Given the description of an element on the screen output the (x, y) to click on. 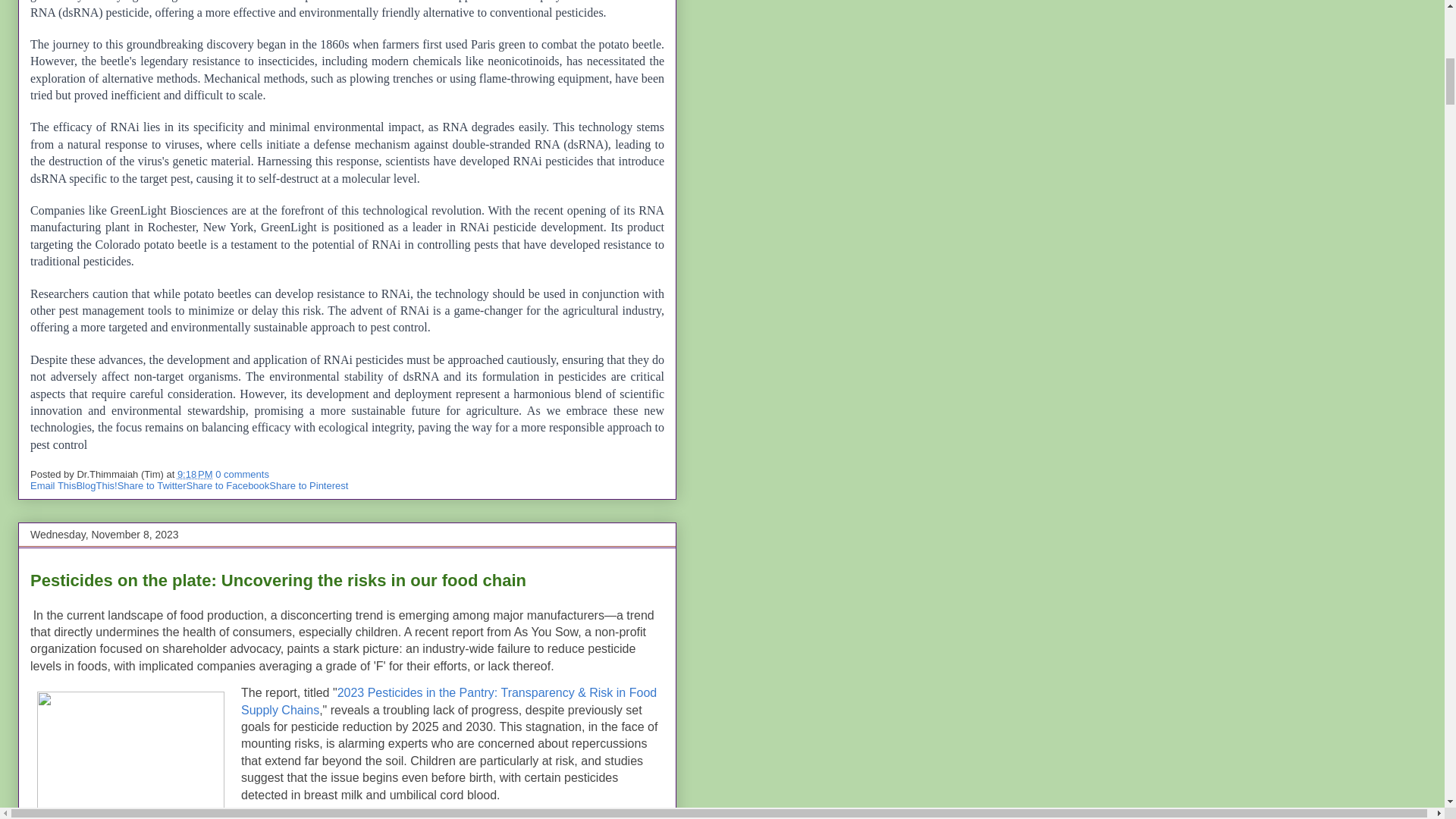
Share to Pinterest (308, 485)
BlogThis! (95, 485)
Share to Twitter (151, 485)
BlogThis! (95, 485)
Share to Twitter (151, 485)
0 comments (242, 473)
Share to Facebook (227, 485)
Email This (52, 485)
Share to Pinterest (308, 485)
permanent link (194, 473)
Share to Facebook (227, 485)
Email This (52, 485)
